Given the description of an element on the screen output the (x, y) to click on. 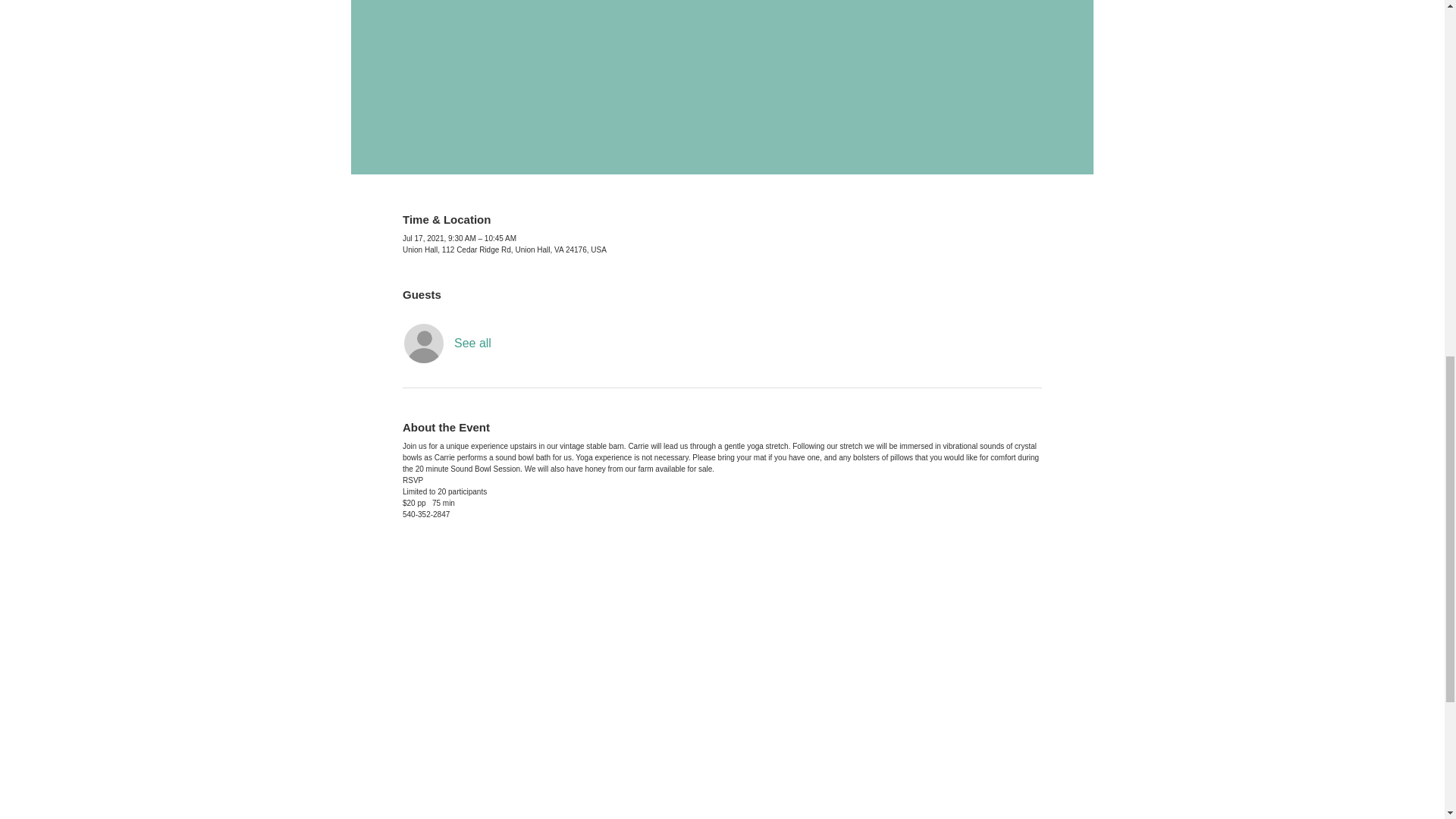
See all (473, 343)
